Given the description of an element on the screen output the (x, y) to click on. 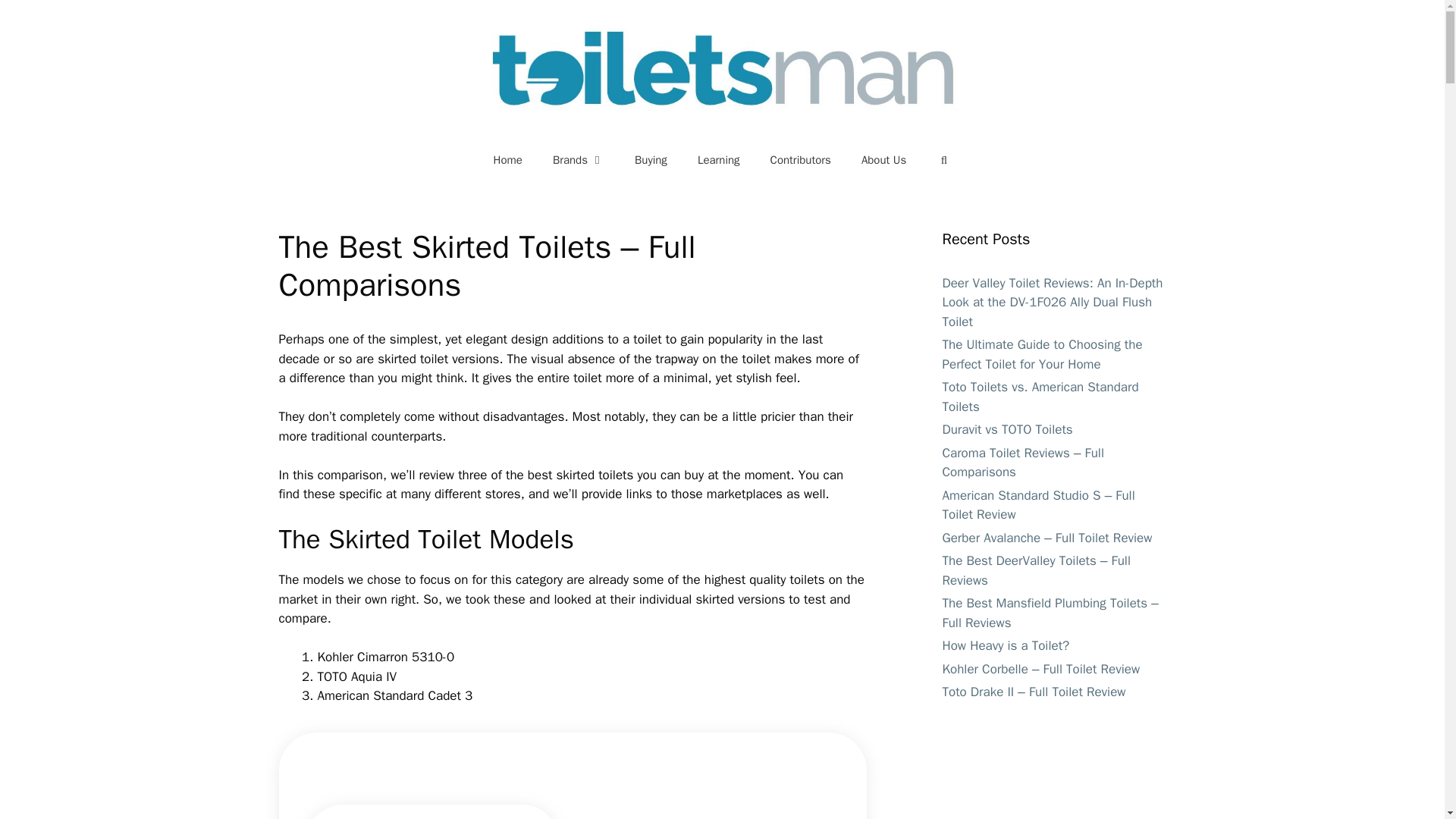
Brands (578, 159)
Home (508, 159)
